Given the description of an element on the screen output the (x, y) to click on. 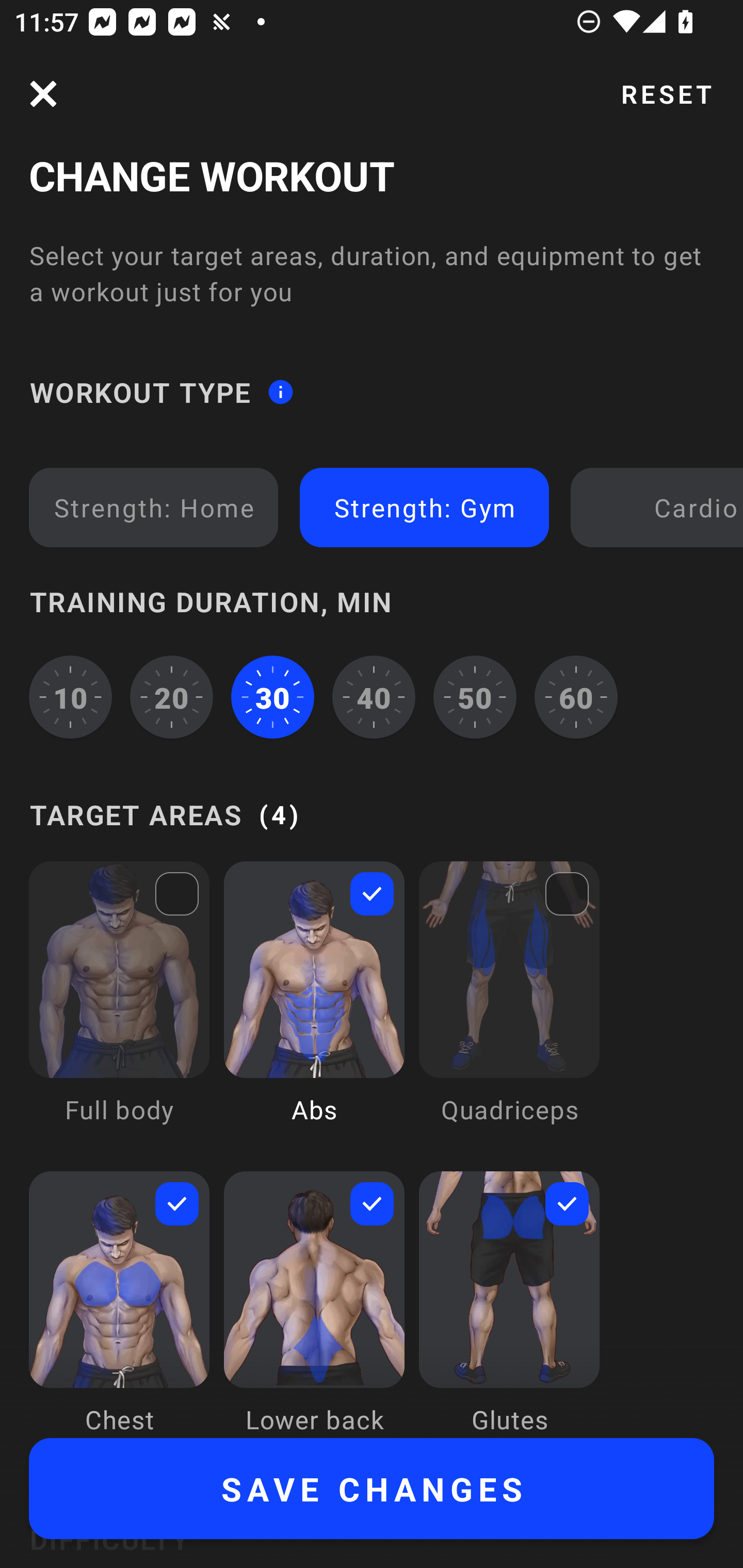
Navigation icon (43, 93)
RESET (666, 93)
Workout type information button (280, 391)
Strength: Home (153, 507)
Cardio (660, 507)
10 (70, 696)
20 (171, 696)
30 (272, 696)
40 (373, 696)
50 (474, 696)
60 (575, 696)
Full body (118, 1007)
Quadriceps (509, 1007)
SAVE CHANGES (371, 1488)
